Given the description of an element on the screen output the (x, y) to click on. 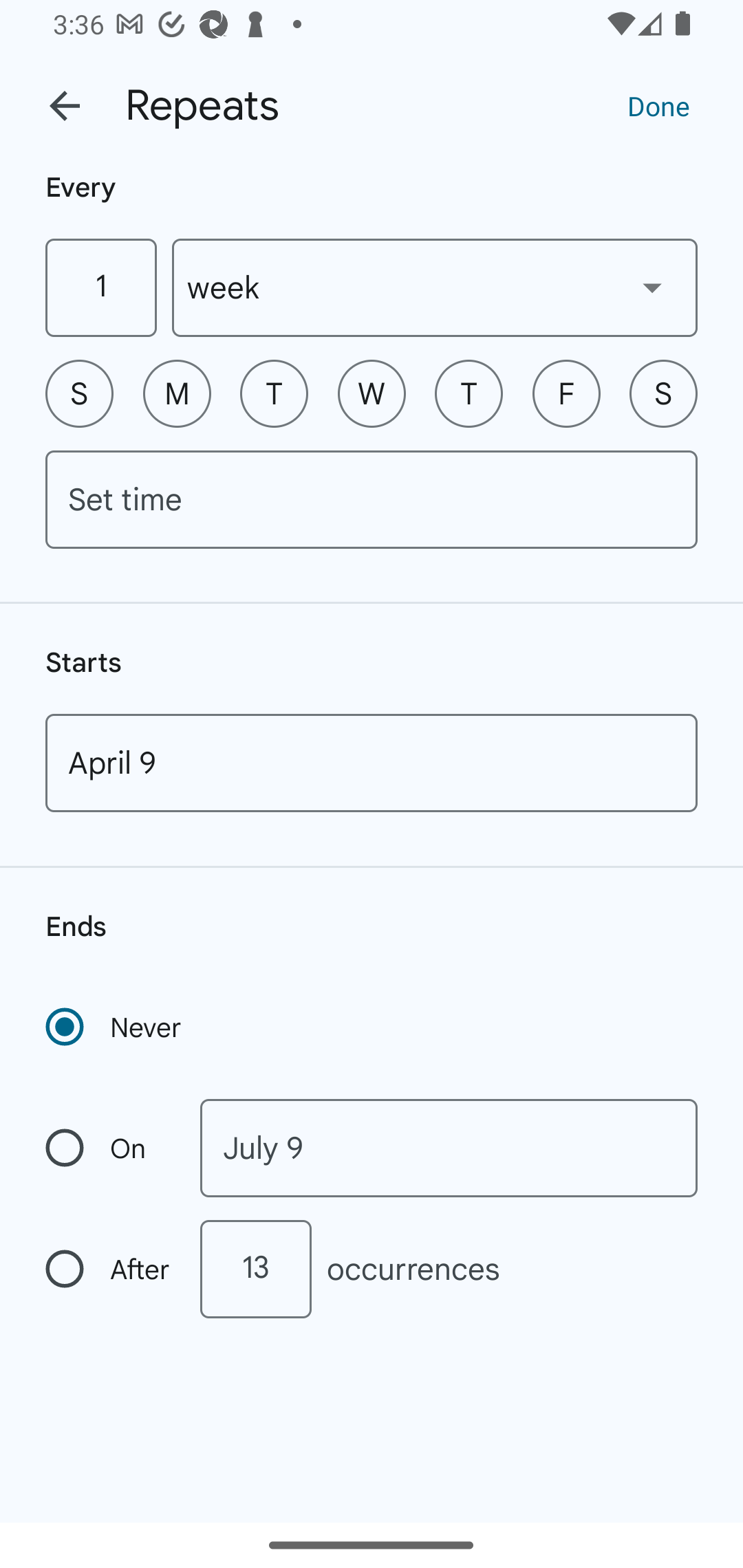
Back (64, 105)
Done (658, 105)
1 (100, 287)
week (434, 287)
Show dropdown menu (652, 286)
S Sunday (79, 393)
M Monday (177, 393)
T Tuesday (273, 393)
W Wednesday (371, 393)
T Thursday (468, 393)
F Friday (566, 393)
S Saturday (663, 393)
Set time (371, 499)
April 9 (371, 762)
Never Recurrence never ends (115, 1026)
July 9 (448, 1148)
On Recurrence ends on a specific date (109, 1148)
13 (255, 1268)
